Given the description of an element on the screen output the (x, y) to click on. 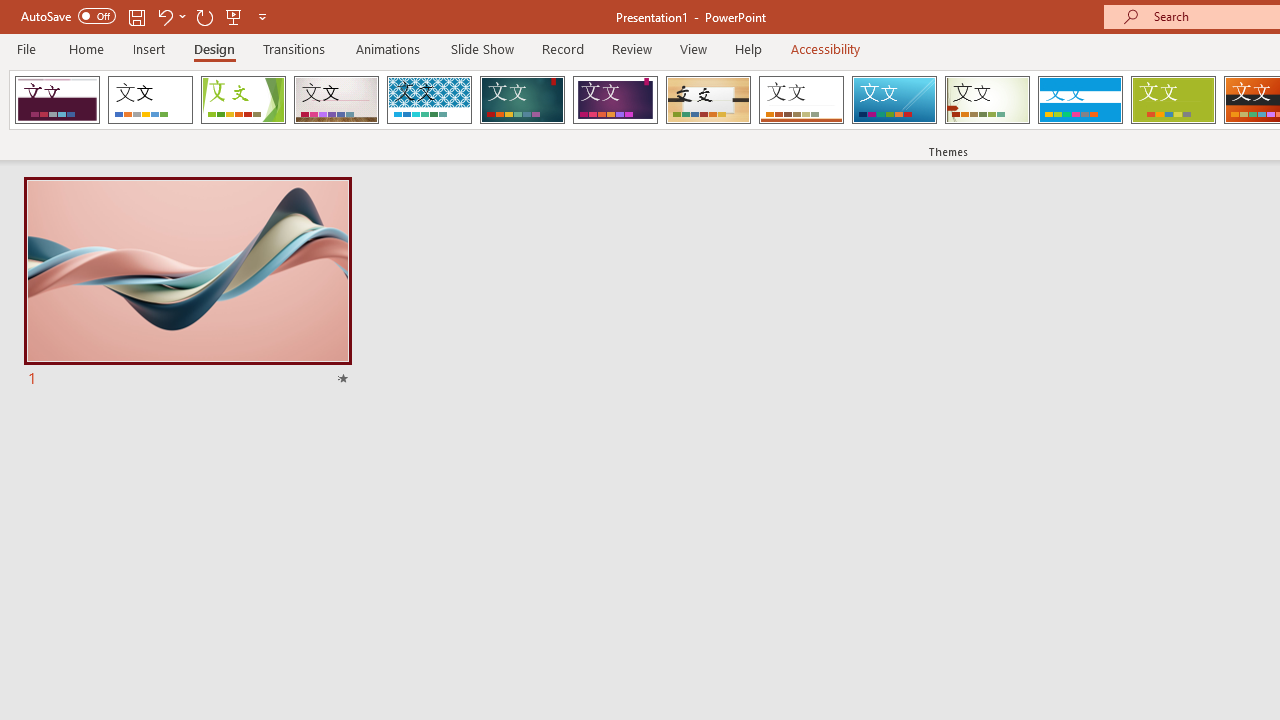
Integral (429, 100)
Ion (522, 100)
